Given the description of an element on the screen output the (x, y) to click on. 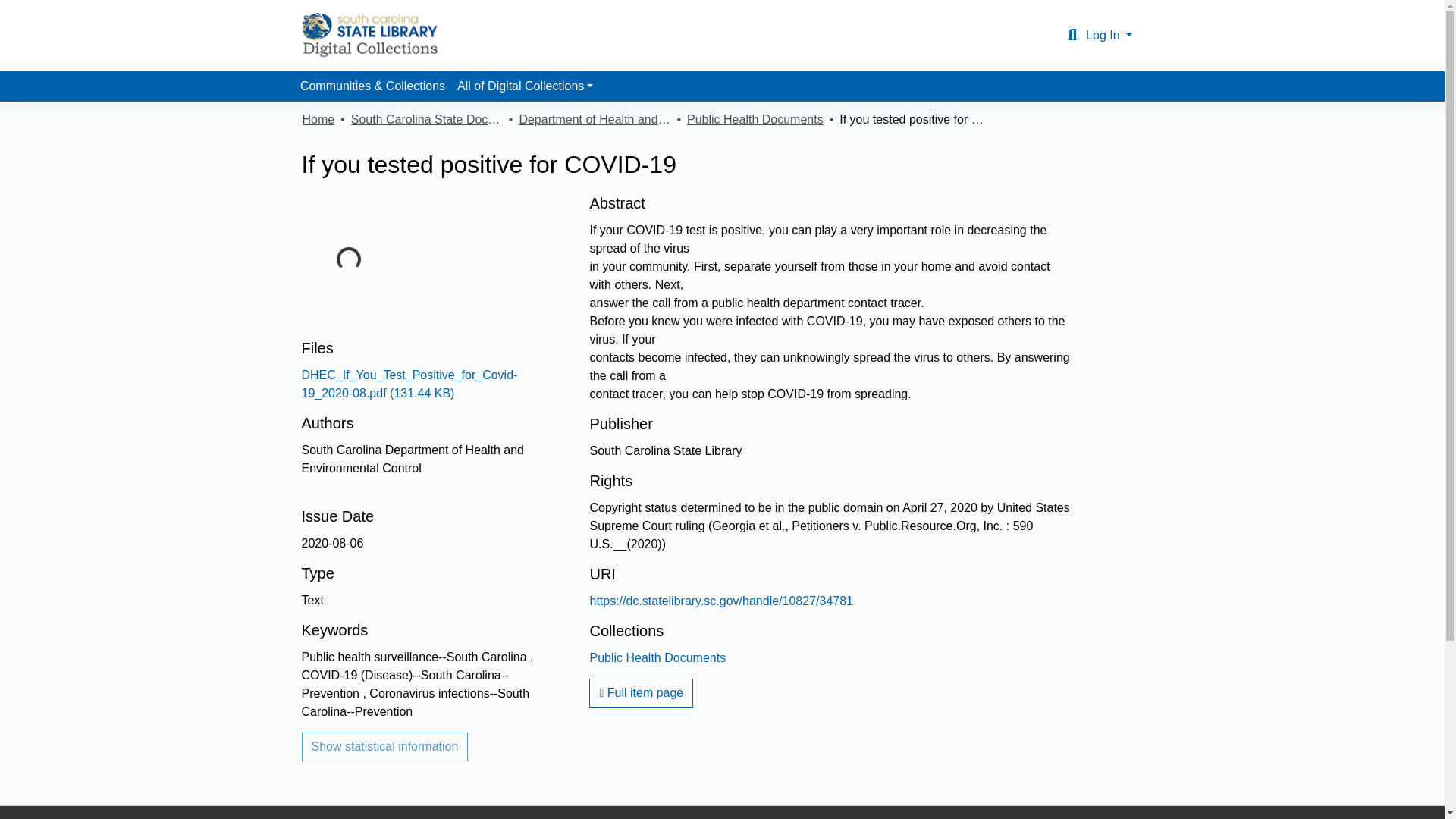
Log In (1108, 34)
Show statistical information (384, 746)
Home (317, 119)
Public Health Documents (755, 119)
Public Health Documents (657, 657)
South Carolina State Documents Depository (426, 119)
Full item page (641, 692)
Department of Health and Environmental Control (593, 119)
All of Digital Collections (524, 86)
Search (1072, 35)
